Given the description of an element on the screen output the (x, y) to click on. 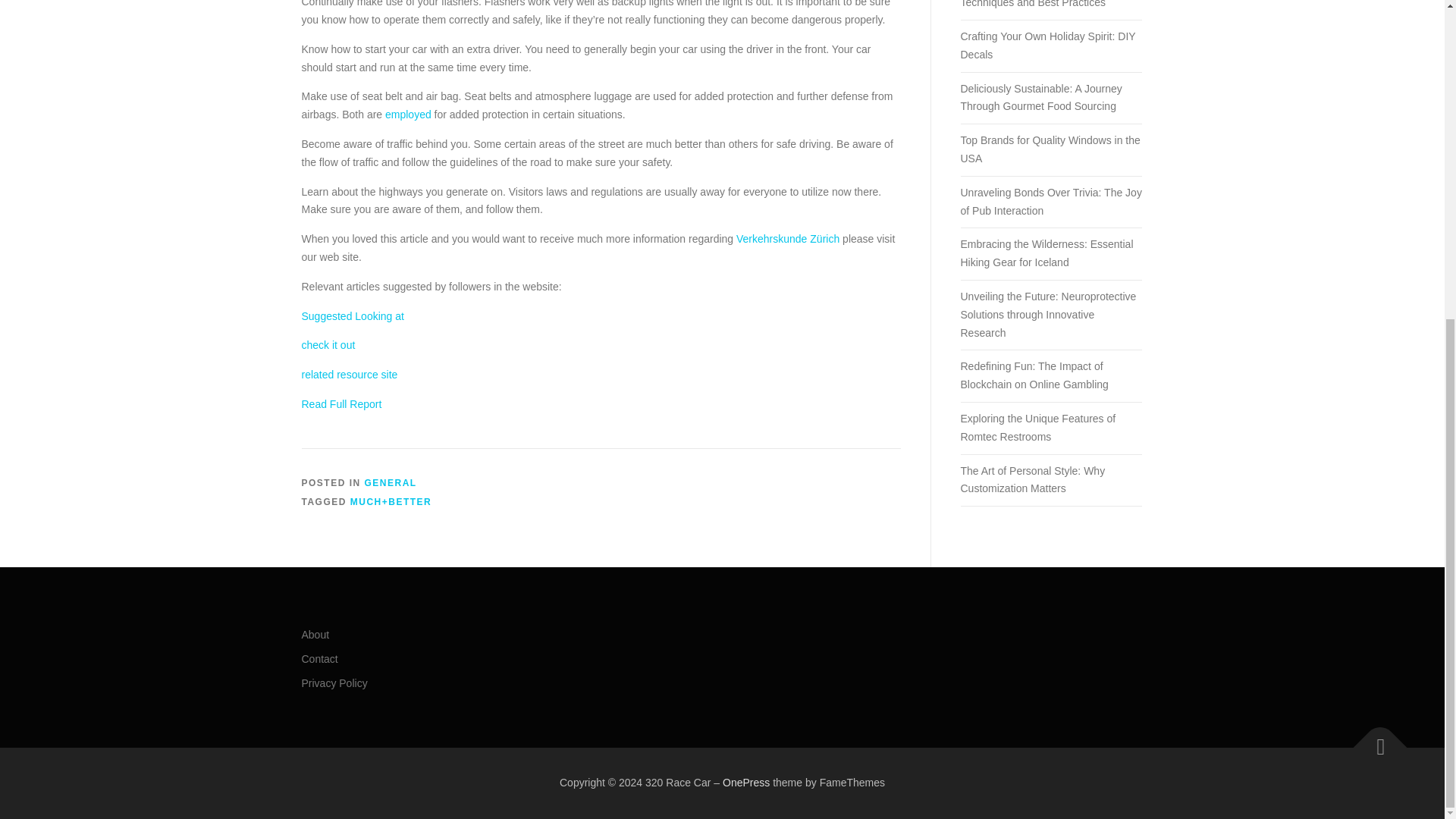
Top Brands for Quality Windows in the USA (1049, 149)
Suggested Looking at (352, 316)
The Art of Personal Style: Why Customization Matters (1032, 479)
OnePress (746, 782)
Unraveling Bonds Over Trivia: The Joy of Pub Interaction (1050, 201)
employed (407, 114)
check it out (328, 345)
related resource site (349, 374)
The Art of Coffee Roasting: Techniques and Best Practices (1032, 4)
